Given the description of an element on the screen output the (x, y) to click on. 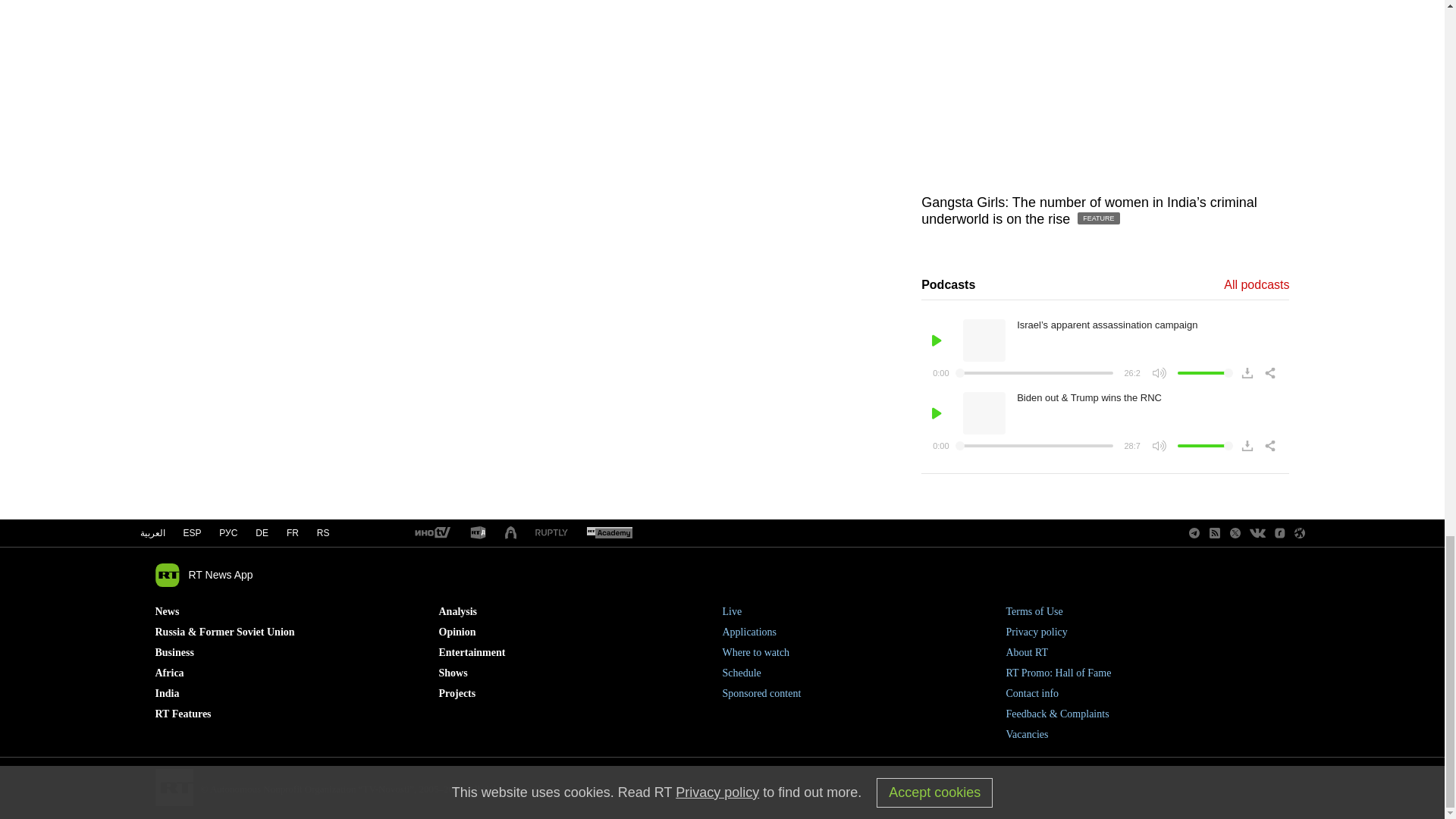
RT  (478, 533)
RT  (431, 533)
RT  (608, 533)
RT  (551, 533)
